Given the description of an element on the screen output the (x, y) to click on. 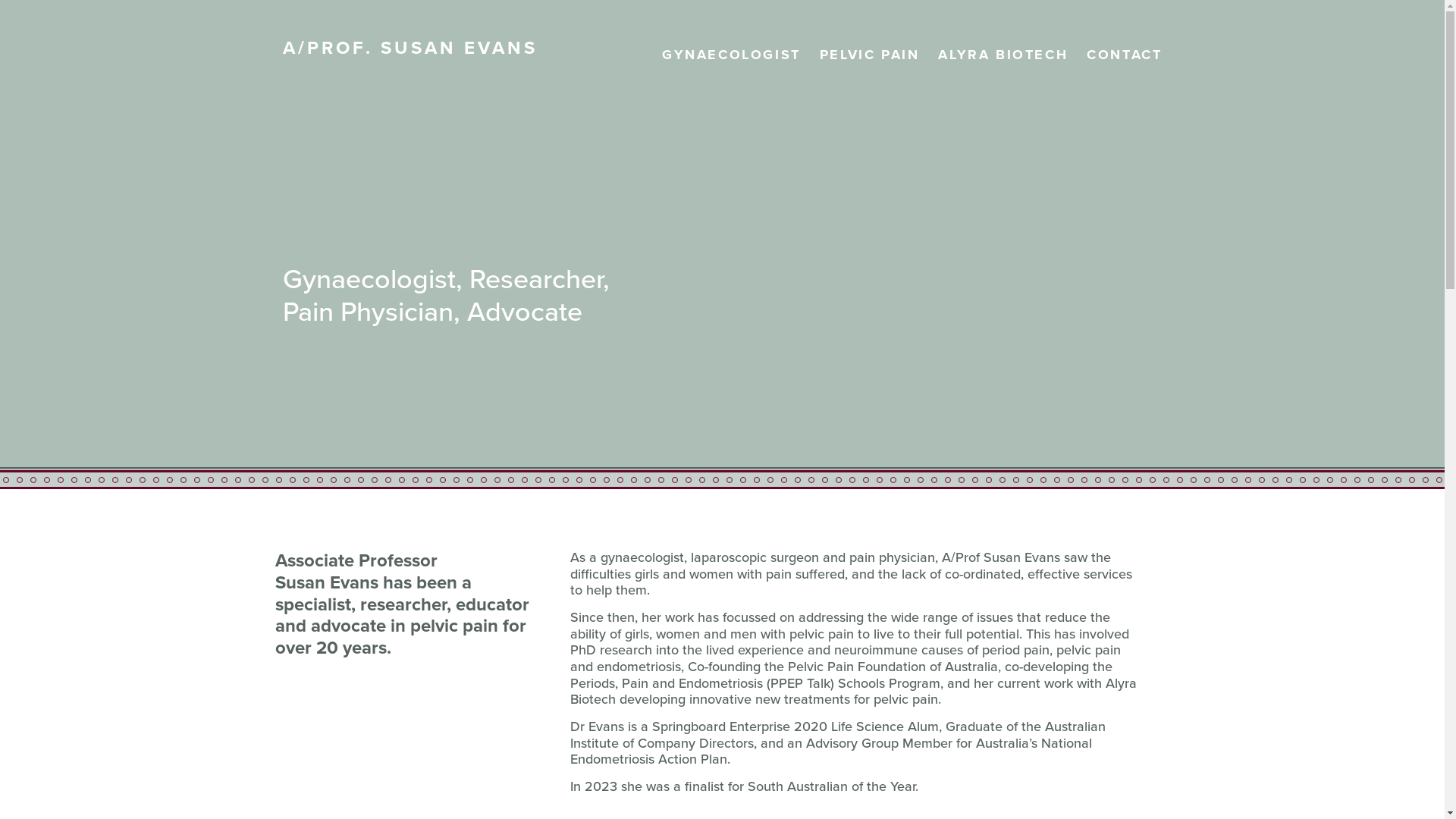
ALYRA BIOTECH Element type: text (1002, 55)
CONTACT Element type: text (1123, 55)
GYNAECOLOGIST Element type: text (731, 55)
PELVIC PAIN Element type: text (869, 55)
A/PROF. SUSAN EVANS Element type: text (409, 47)
